Given the description of an element on the screen output the (x, y) to click on. 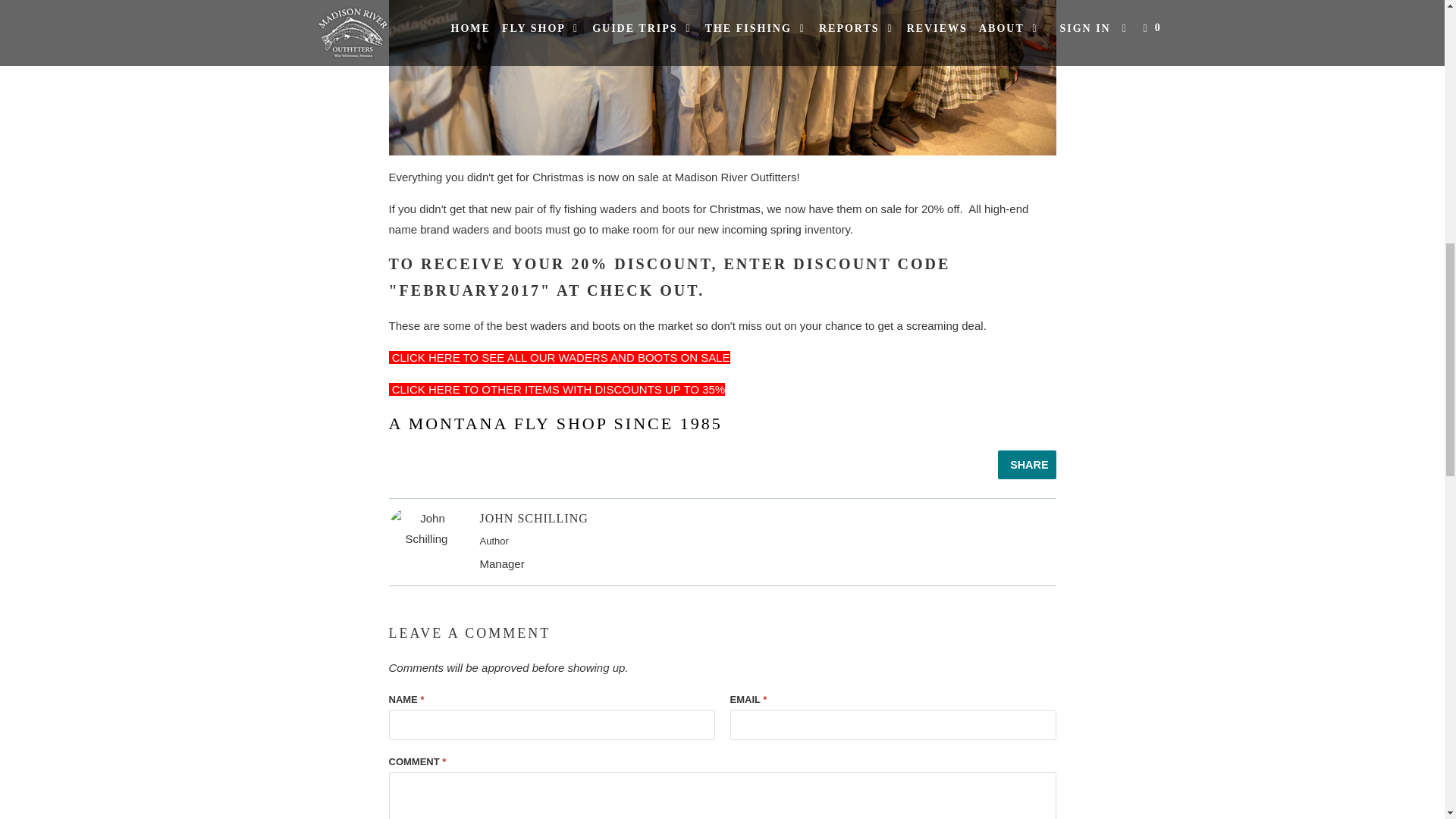
FLY FISHING WADERS AND BOOTS ON SALE (558, 357)
